Given the description of an element on the screen output the (x, y) to click on. 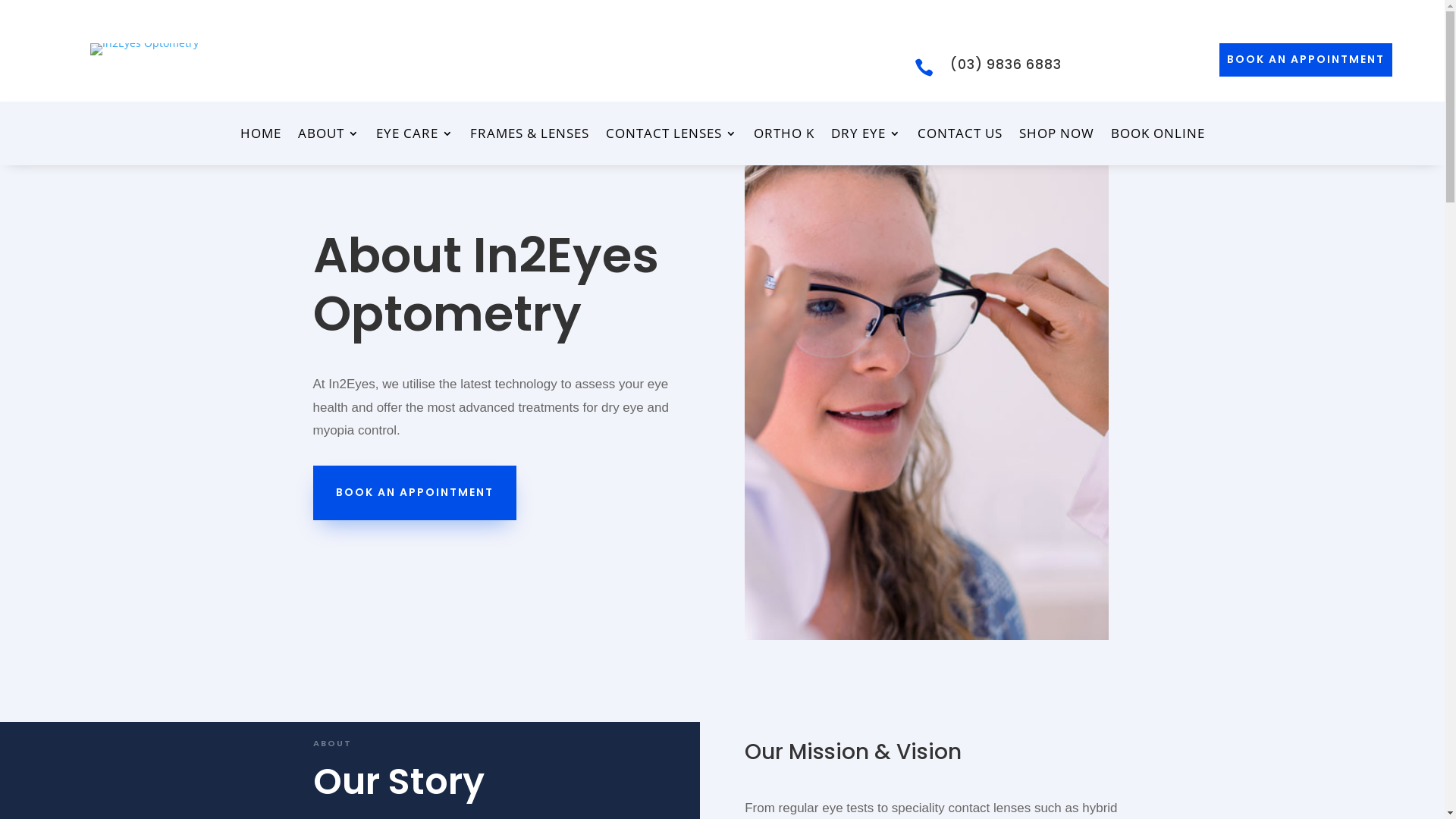
(03) 9836 6883 Element type: text (1005, 64)
BOOK ONLINE Element type: text (1157, 136)
In2Eyes_Logo_Transparent Element type: hover (144, 49)
EYE CARE Element type: text (414, 136)
BOOK AN APPOINTMENT Element type: text (413, 492)
ABOUT Element type: text (327, 136)
ORTHO K Element type: text (783, 136)
CONTACT LENSES Element type: text (670, 136)
SHOP NOW Element type: text (1056, 136)
HOME Element type: text (259, 136)
CONTACT US Element type: text (959, 136)
BOOK AN APPOINTMENT Element type: text (1305, 59)
FRAMES & LENSES Element type: text (529, 136)
DRY EYE Element type: text (865, 136)
